Given the description of an element on the screen output the (x, y) to click on. 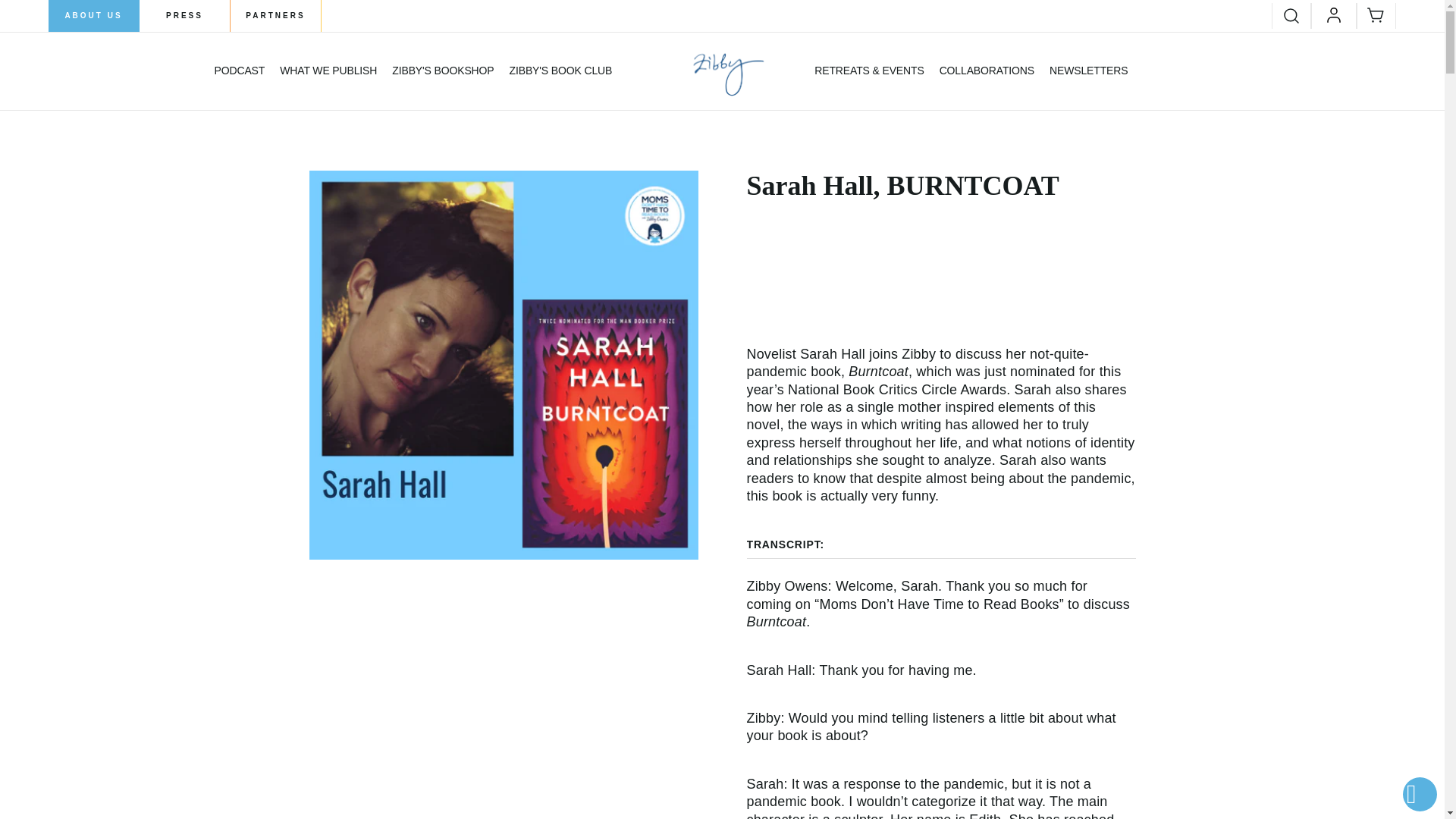
PARTNERS (275, 15)
PRESS (184, 15)
ZIBBY'S BOOK CLUB (560, 71)
ZIBBY'S BOOKSHOP (442, 71)
ABOUT US (93, 15)
WHAT WE PUBLISH (328, 71)
COLLABORATIONS (986, 71)
